Given the description of an element on the screen output the (x, y) to click on. 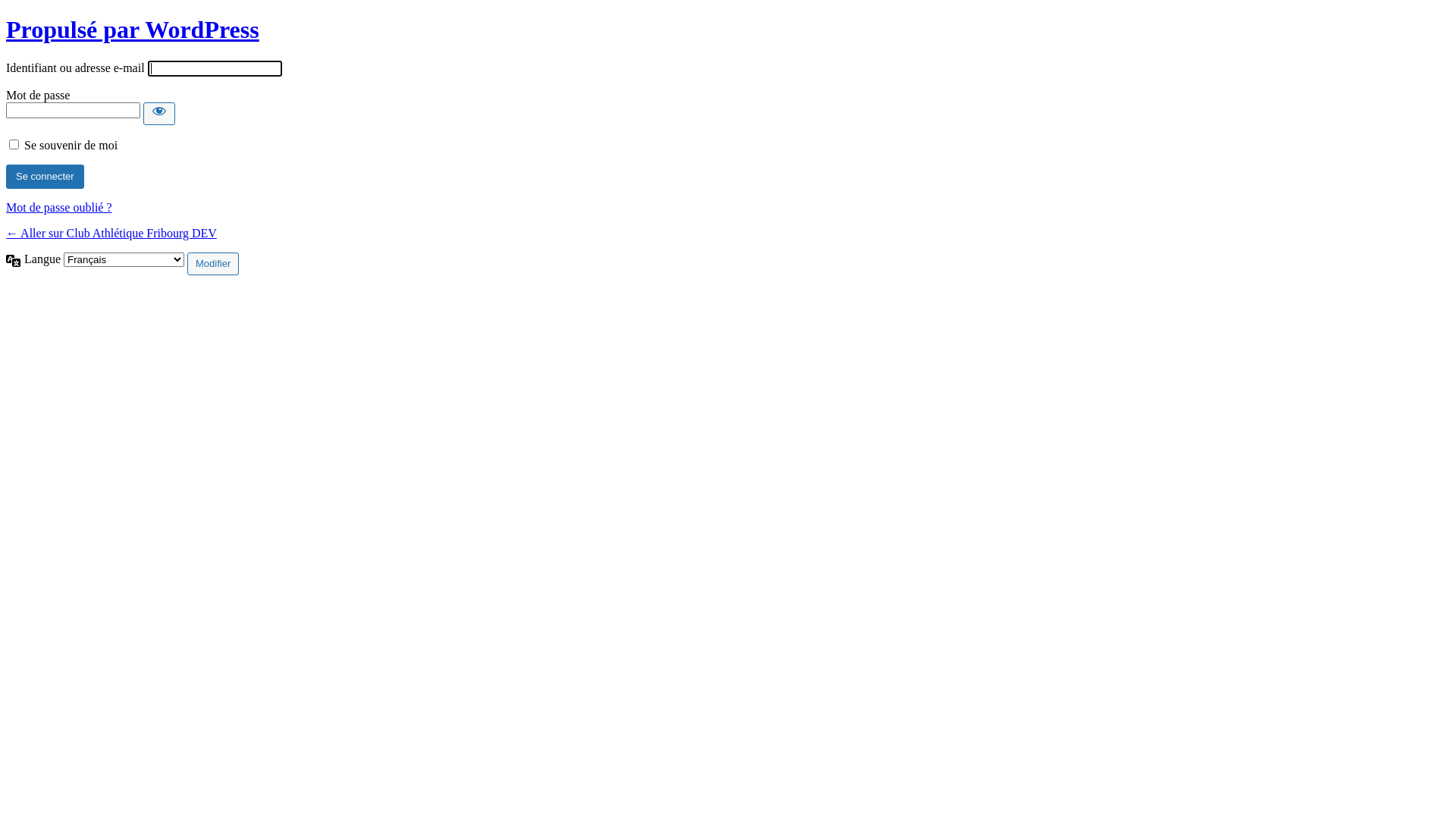
Modifier Element type: text (212, 263)
Se connecter Element type: text (45, 176)
